Given the description of an element on the screen output the (x, y) to click on. 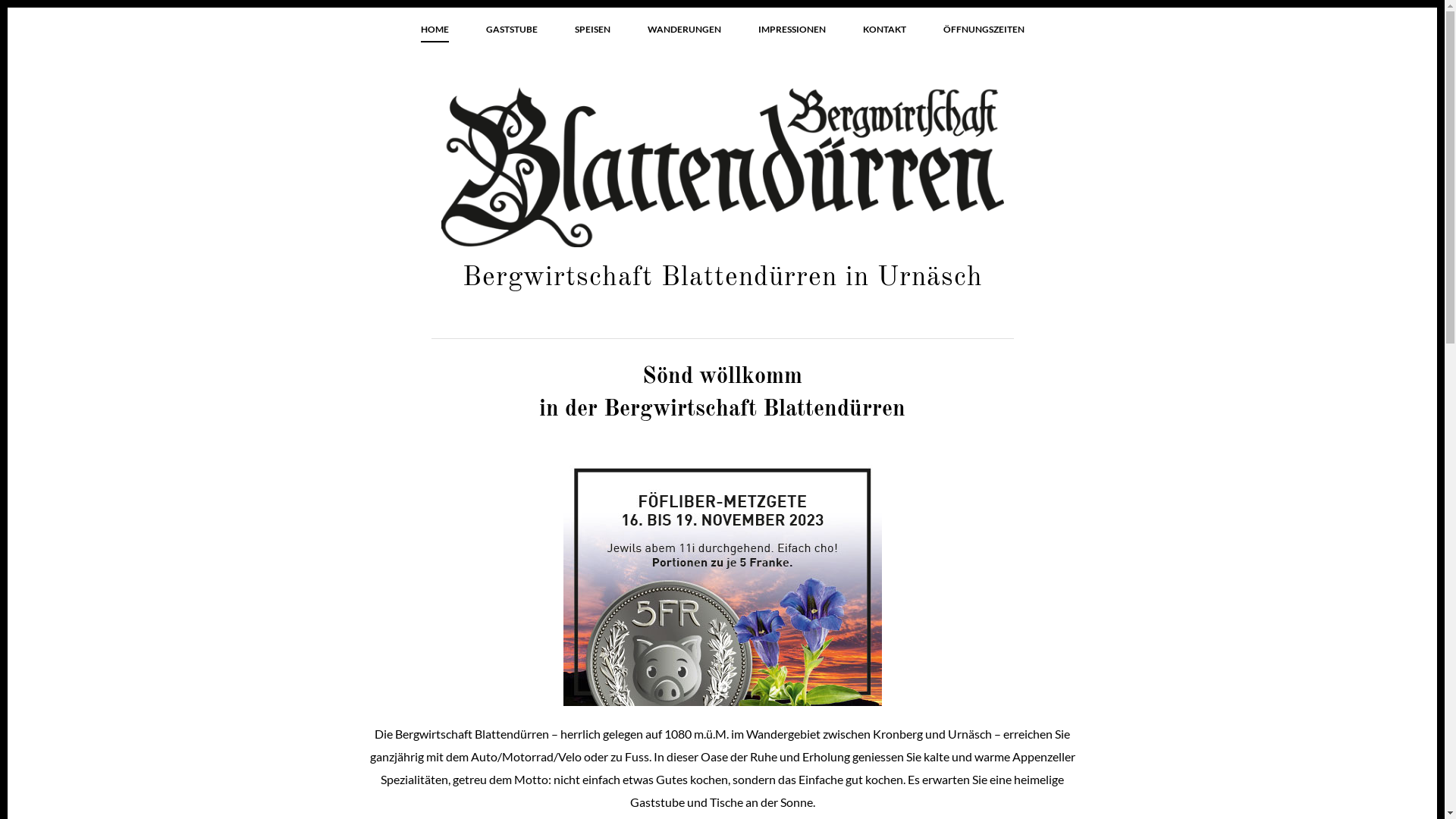
GASTSTUBE Element type: text (511, 29)
IMPRESSIONEN Element type: text (791, 29)
KONTAKT Element type: text (883, 29)
HOME Element type: text (434, 30)
WANDERUNGEN Element type: text (683, 29)
SPEISEN Element type: text (591, 29)
